Given the description of an element on the screen output the (x, y) to click on. 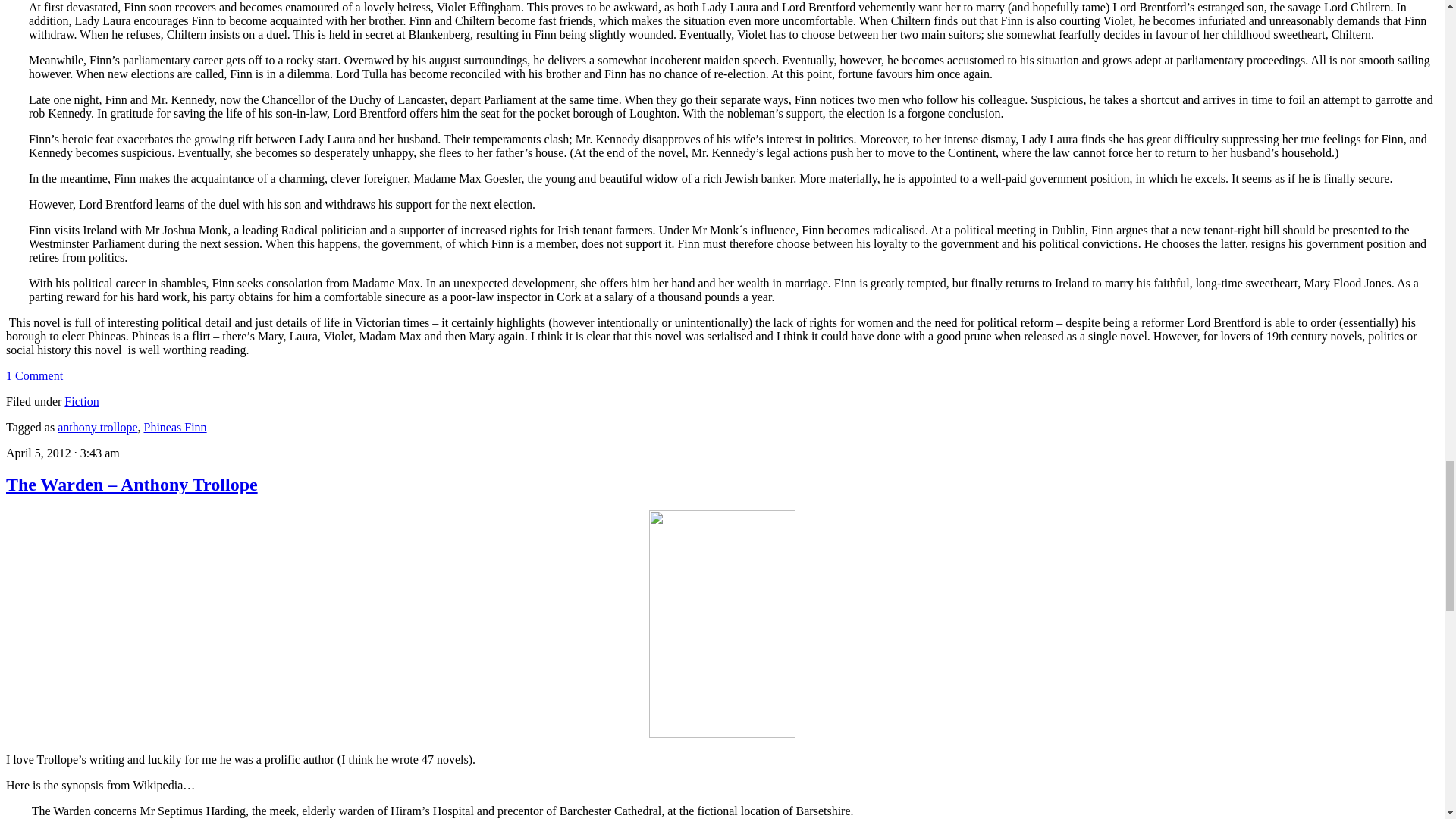
1 Comment (33, 374)
anthony trollope (97, 426)
Fiction (81, 400)
Phineas Finn (175, 426)
